Given the description of an element on the screen output the (x, y) to click on. 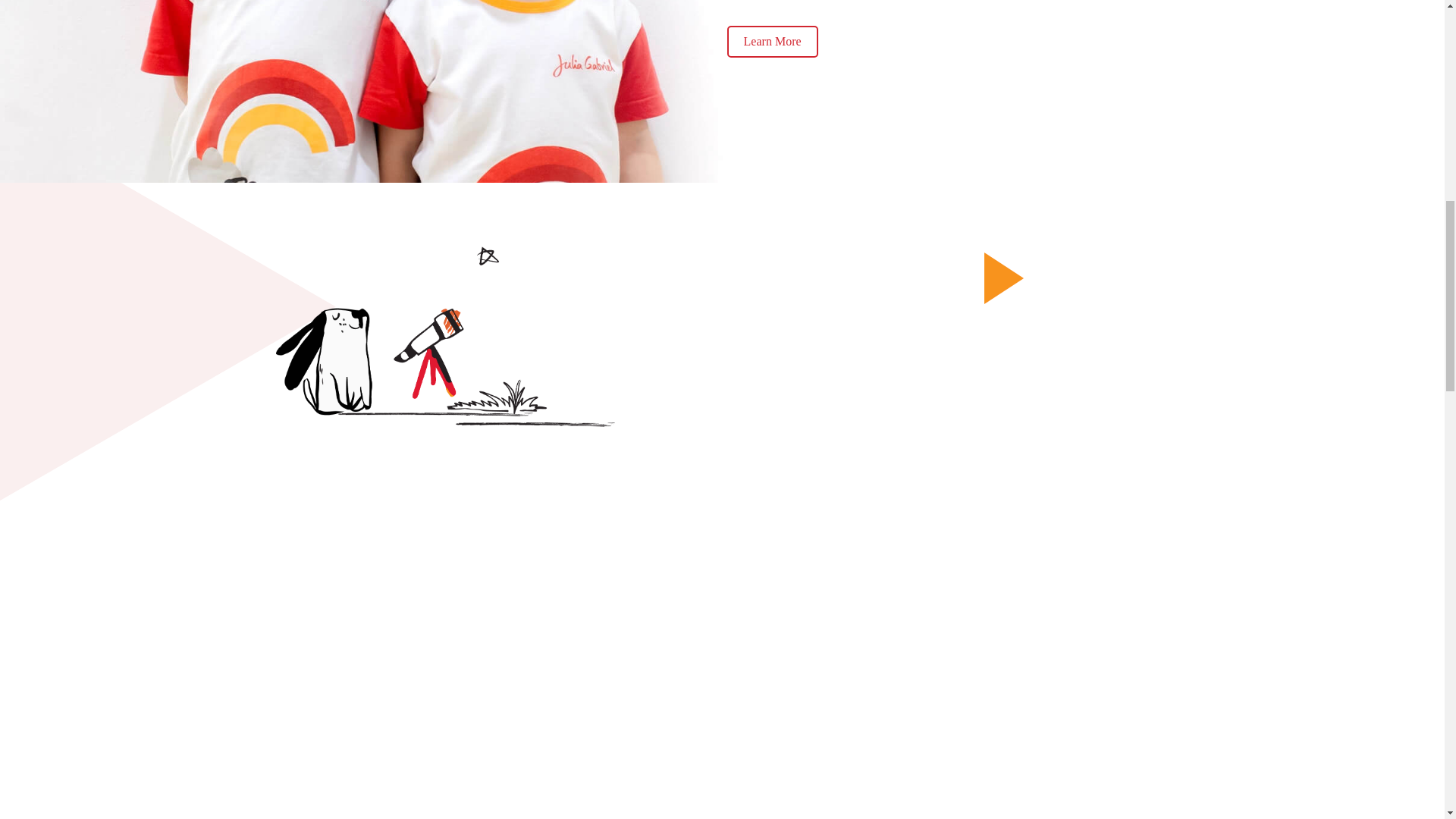
Learn More (772, 41)
